Given the description of an element on the screen output the (x, y) to click on. 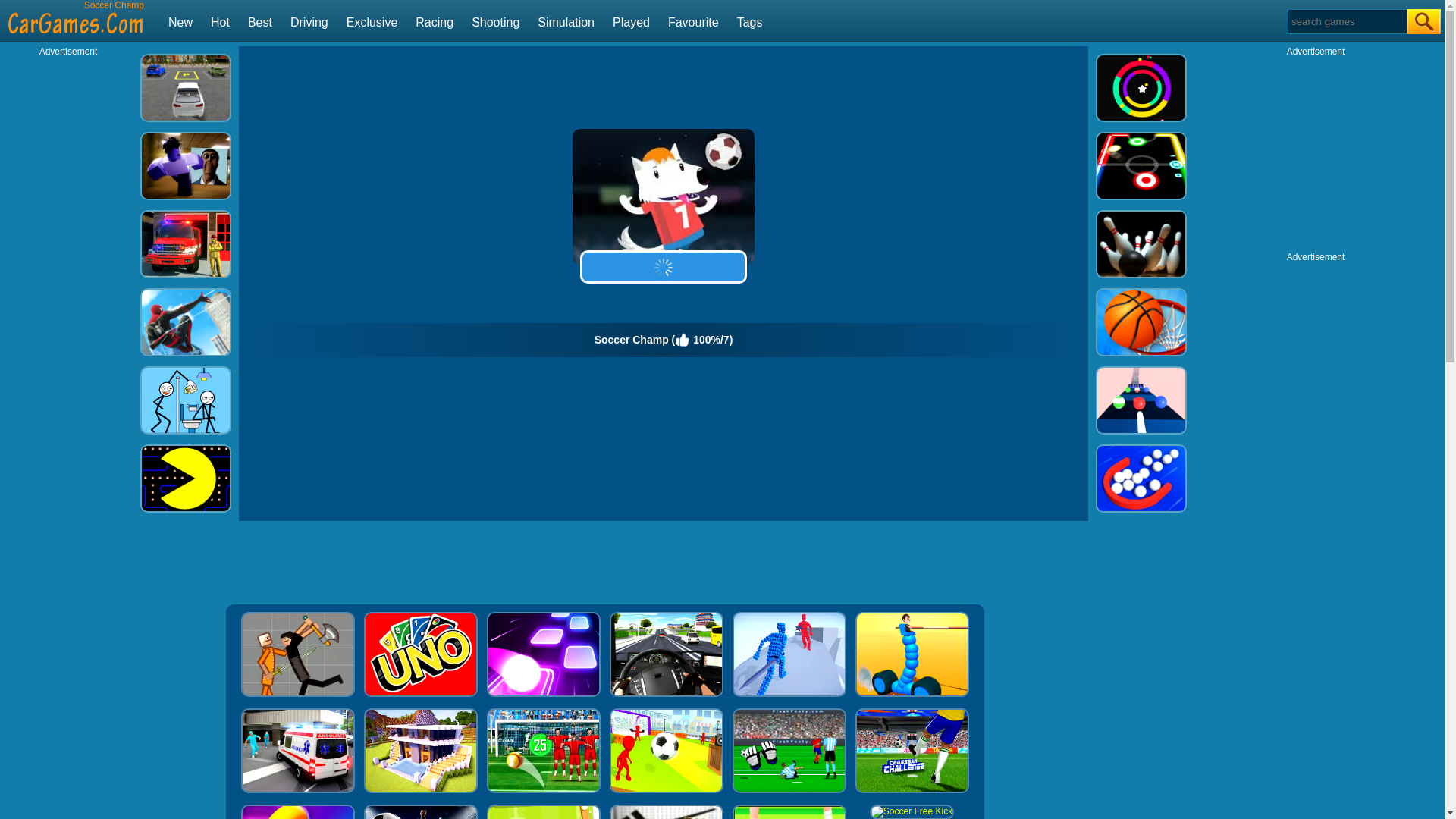
Favourite (693, 21)
Exclusive (371, 21)
Tags (749, 21)
Driving (309, 21)
Hot (220, 21)
Simulation (565, 21)
New (180, 21)
Played (630, 21)
Best (259, 21)
Racing (433, 21)
Shooting (495, 21)
